Given the description of an element on the screen output the (x, y) to click on. 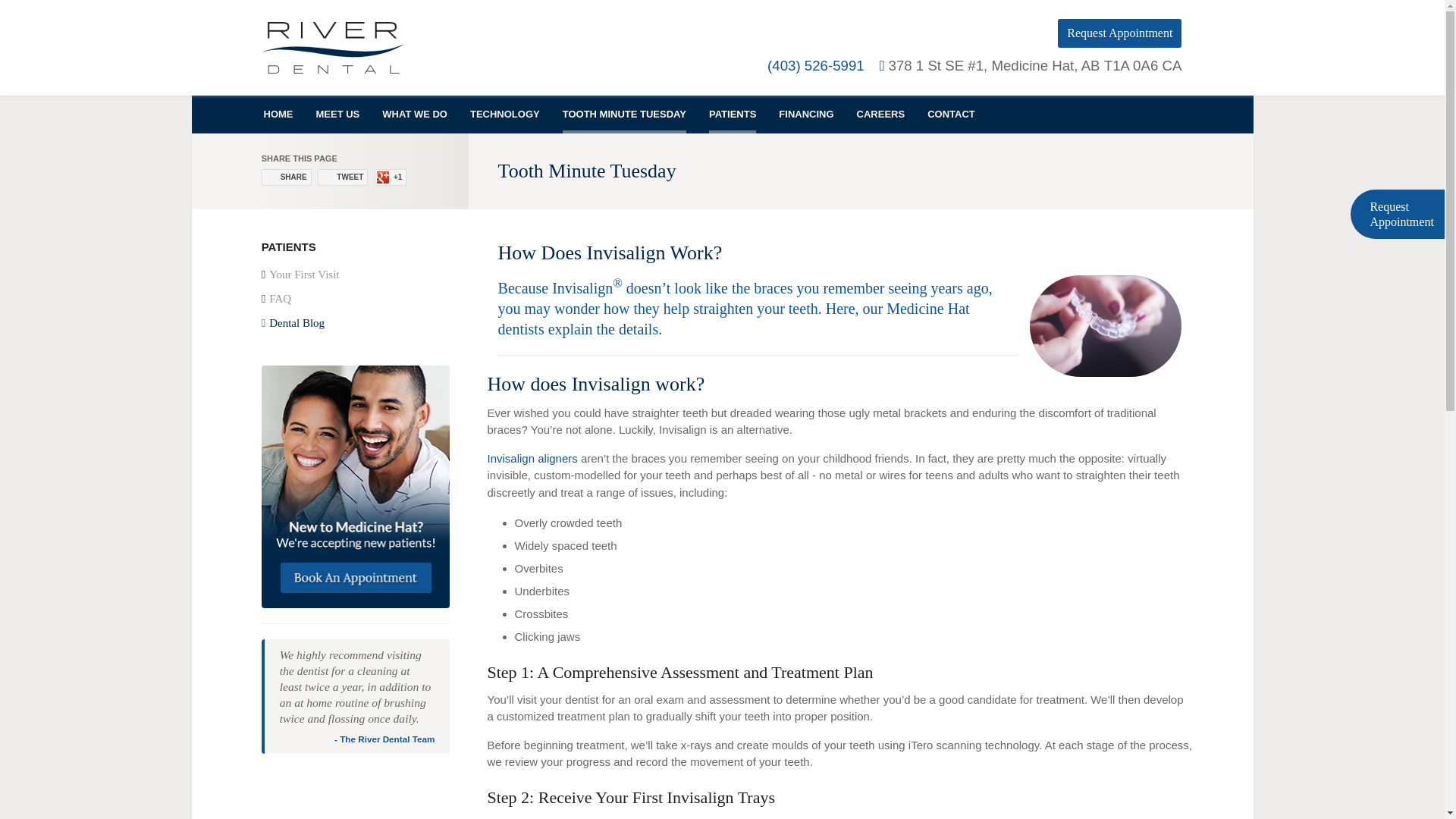
TECHNOLOGY (505, 114)
WHAT WE DO (413, 114)
TOOTH MINUTE TUESDAY (623, 114)
MEET US (337, 114)
Request Appointment (1119, 32)
